Given the description of an element on the screen output the (x, y) to click on. 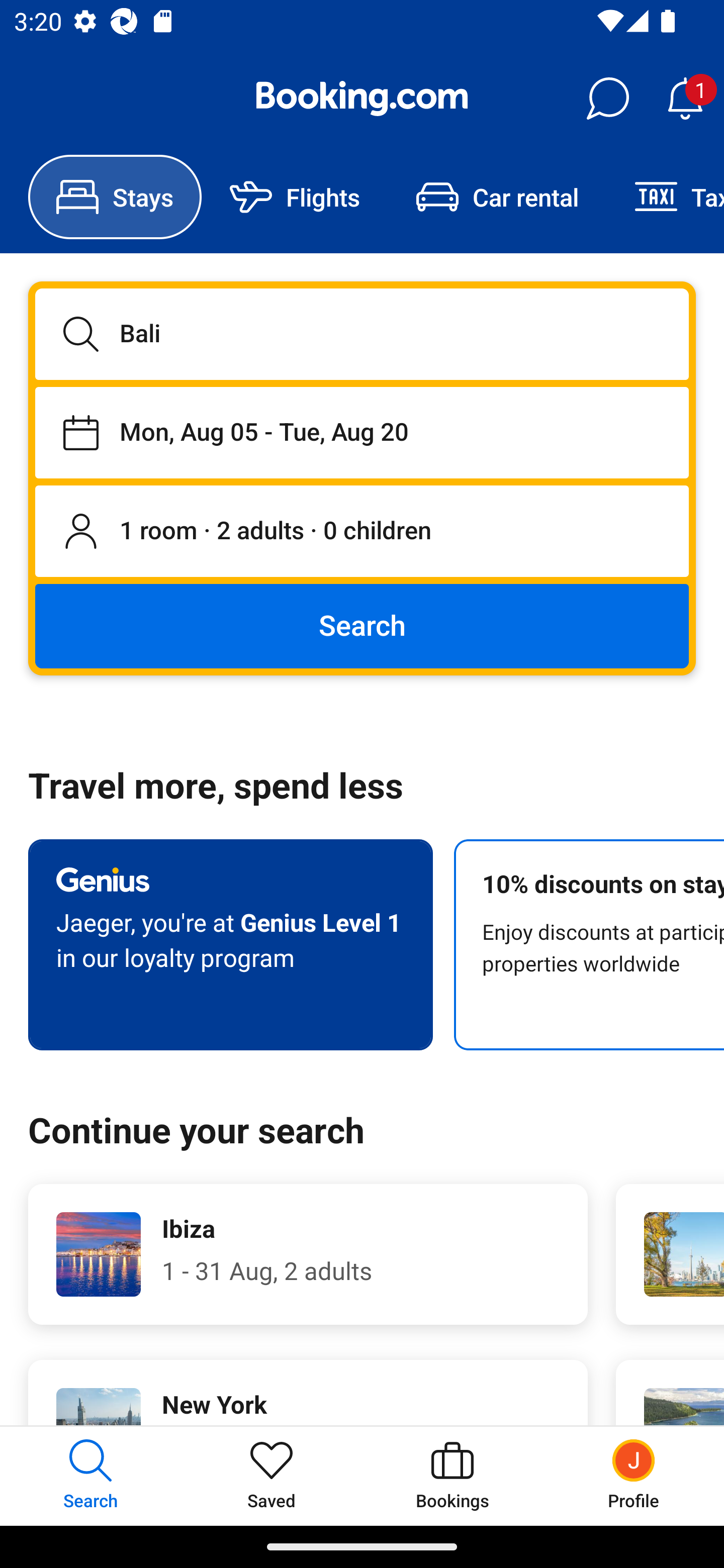
Messages (607, 98)
Notifications (685, 98)
Stays (114, 197)
Flights (294, 197)
Car rental (497, 197)
Taxi (665, 197)
Bali (361, 333)
Staying from Mon, Aug 05 until Tue, Aug 20 (361, 432)
1 room, 2 adults, 0 children (361, 531)
Search (361, 625)
Ibiza 1 - 31 Aug, 2 adults (307, 1253)
Saved (271, 1475)
Bookings (452, 1475)
Profile (633, 1475)
